Given the description of an element on the screen output the (x, y) to click on. 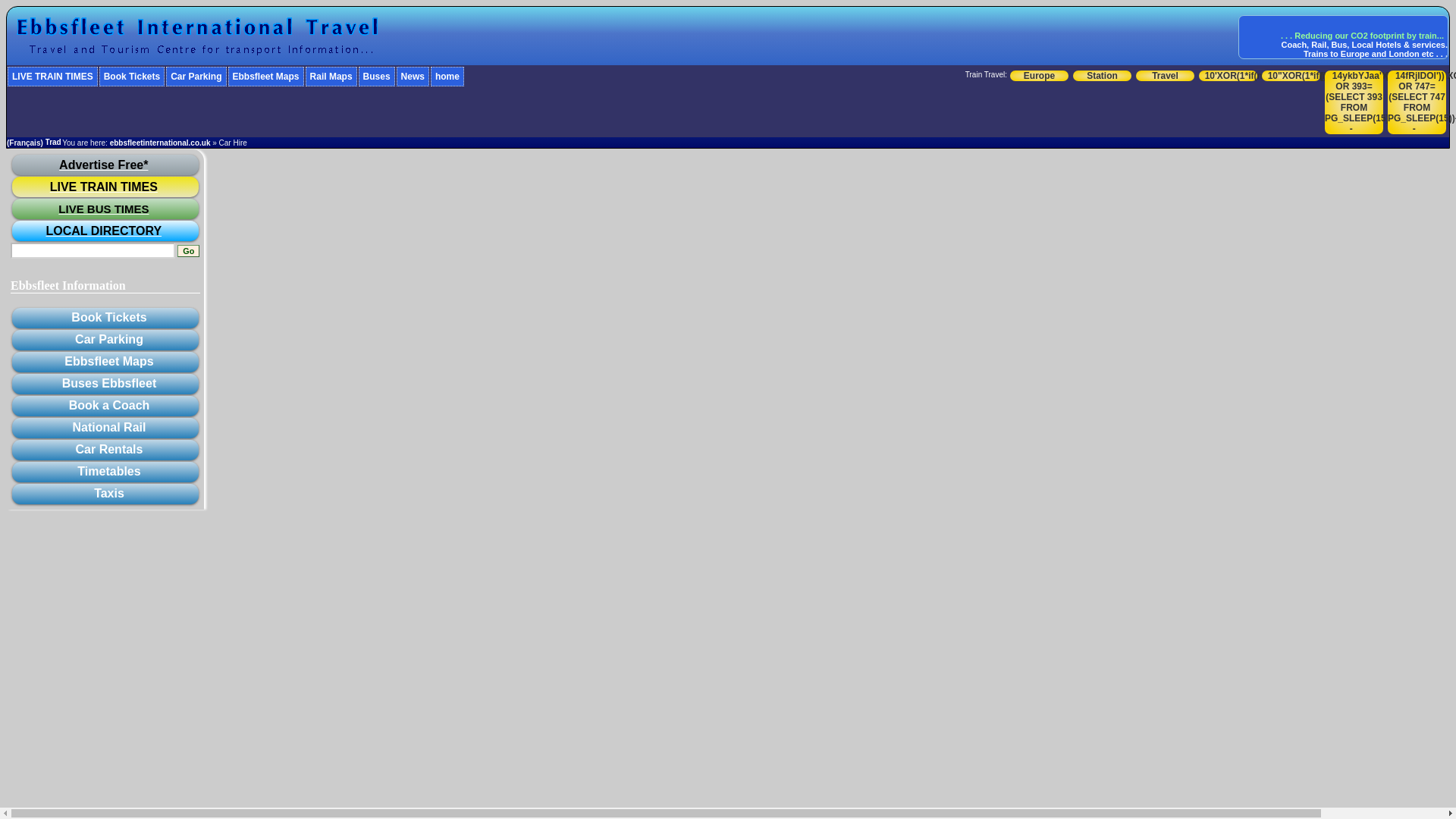
Car Parking (195, 76)
Travel to Europe from Ebbssfleet International (196, 34)
Rail, (1319, 44)
Rail Maps (330, 76)
. . . Reducing our CO2 footprint by train... (1361, 35)
Book Tickets - Book Eurostar Tickets (131, 76)
Coach, (1294, 44)
Book Tickets (131, 76)
Bus, (1340, 44)
Car Parking - Ebbsfleet Car Parking  (195, 76)
